Given the description of an element on the screen output the (x, y) to click on. 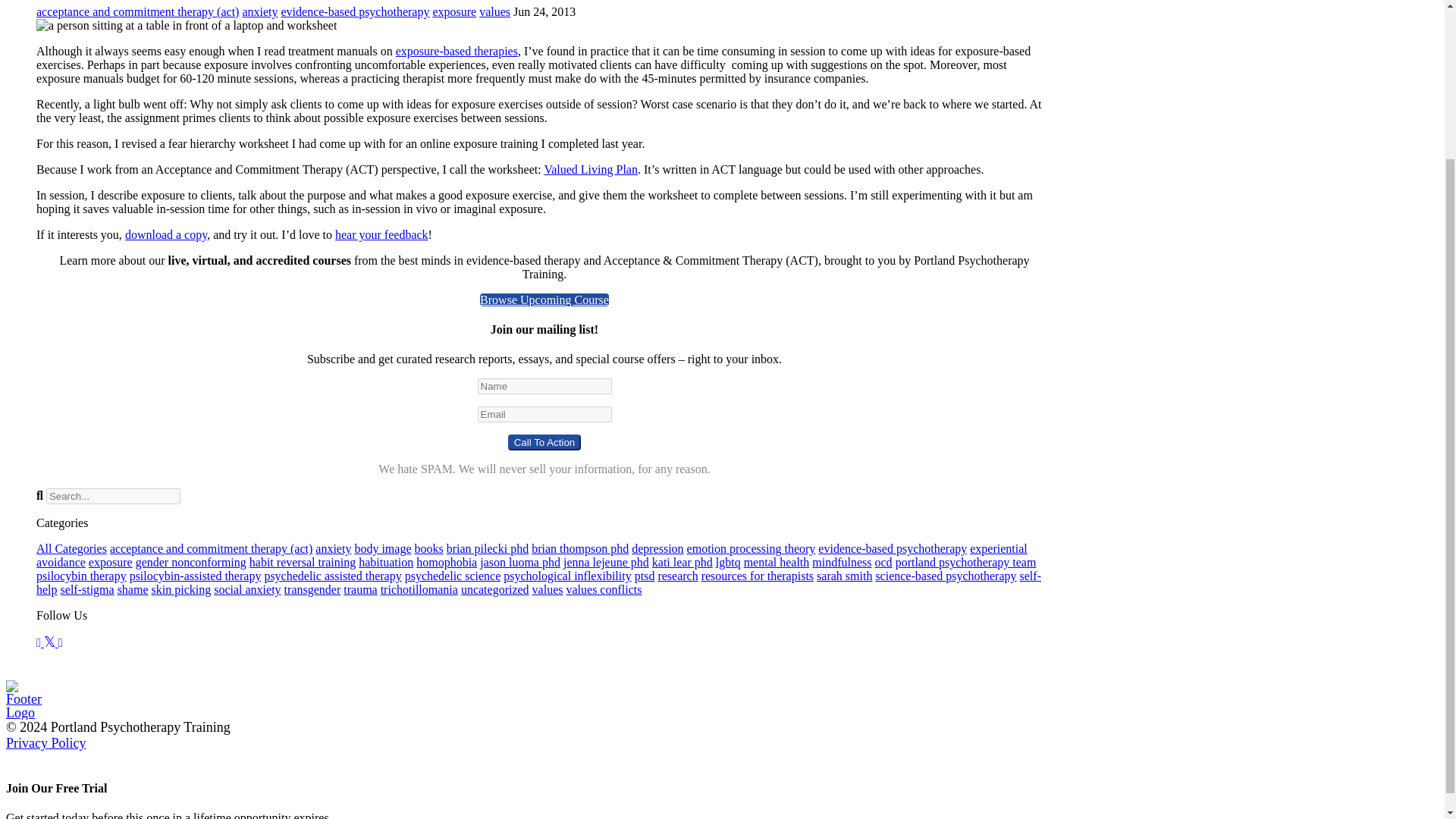
Call To Action (544, 442)
gender nonconforming (190, 562)
Browse Upcoming Course (544, 299)
Call To Action (544, 442)
exposure (454, 11)
values (495, 11)
depression (656, 548)
books (427, 548)
anxiety (259, 11)
evidence-based psychotherapy (892, 548)
experiential avoidance (531, 555)
body image (381, 548)
download a copy (165, 234)
emotion processing theory (751, 548)
brian pilecki phd (487, 548)
